Given the description of an element on the screen output the (x, y) to click on. 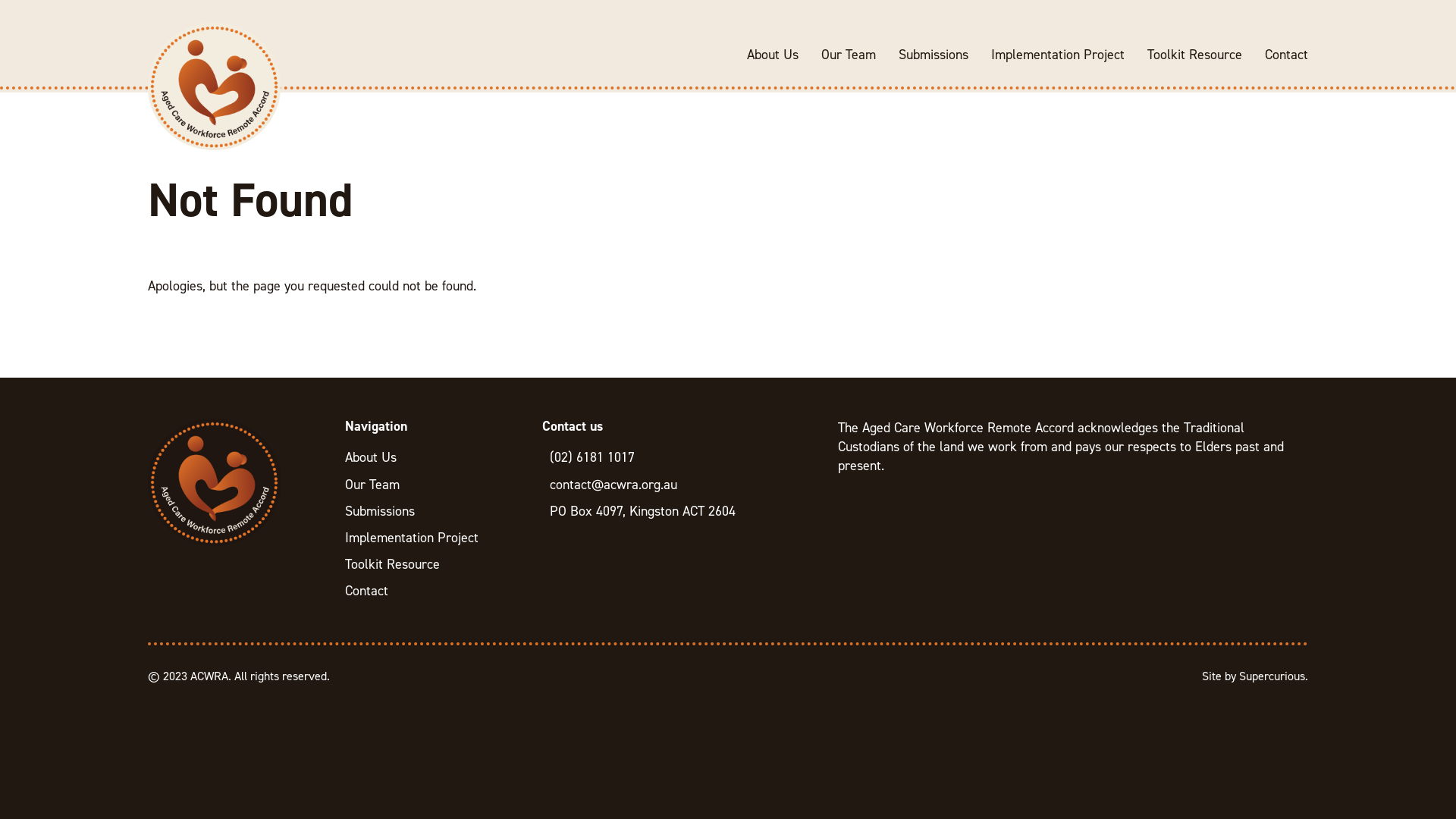
Toolkit Resource Element type: text (432, 564)
Submissions Element type: text (432, 511)
Implementation Project Element type: text (1057, 54)
ACWRA Element type: text (213, 86)
Submissions Element type: text (933, 54)
About Us Element type: text (432, 457)
Supercurious Element type: text (1272, 675)
Toolkit Resource Element type: text (1194, 54)
ACWRA Element type: text (213, 482)
Our Team Element type: text (432, 484)
Contact Element type: text (432, 590)
contact@acwra.org.au Element type: text (678, 484)
(02) 6181 1017 Element type: text (678, 457)
Contact Element type: text (1286, 54)
About Us Element type: text (772, 54)
Our Team Element type: text (848, 54)
Implementation Project Element type: text (432, 537)
